Given the description of an element on the screen output the (x, y) to click on. 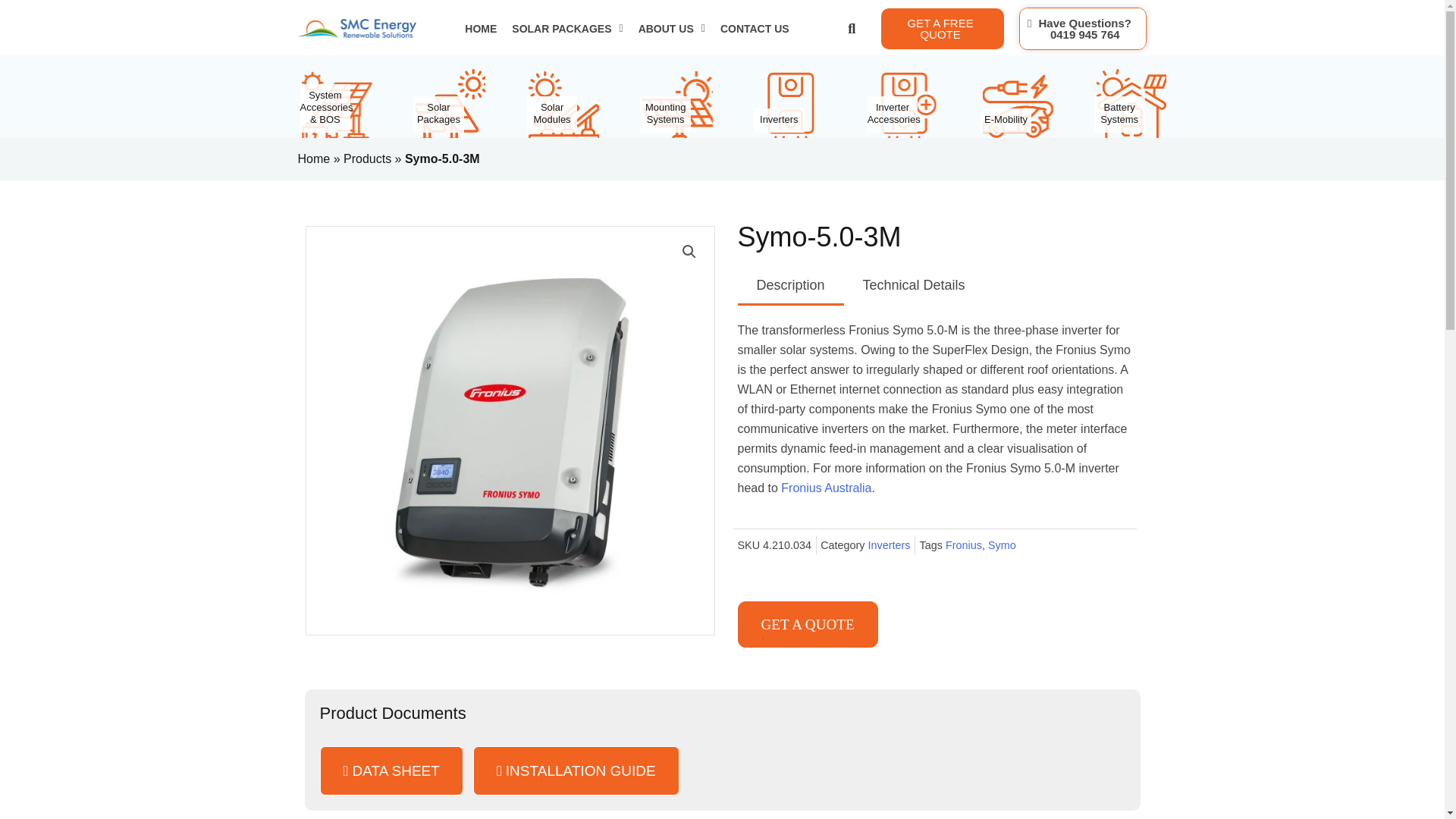
Symo (1002, 544)
CONTACT US (754, 28)
Inverters (889, 544)
ABOUT US (671, 28)
Fronius Australia (825, 487)
Fronius (962, 544)
GET A FREE QUOTE (942, 28)
Home (313, 158)
SOLAR PACKAGES (1082, 28)
GET A QUOTE (566, 28)
Products (806, 624)
